Given the description of an element on the screen output the (x, y) to click on. 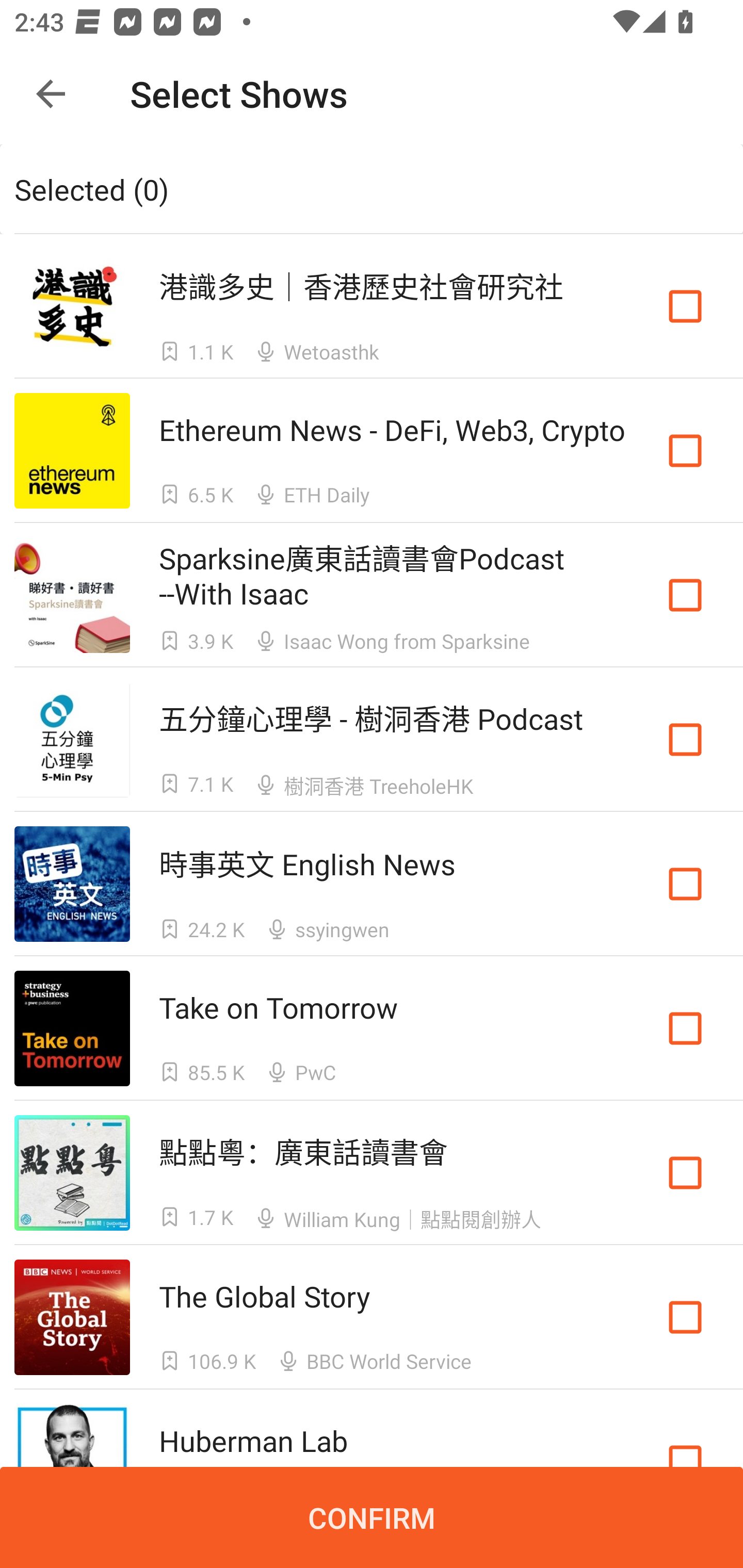
Navigate up (50, 93)
港識多史｜香港歷史社會研究社 港識多史｜香港歷史社會研究社  1.1 K  Wetoasthk (371, 305)
Take on Tomorrow Take on Tomorrow  85.5 K  PwC (371, 1028)
CONFIRM (371, 1517)
